Given the description of an element on the screen output the (x, y) to click on. 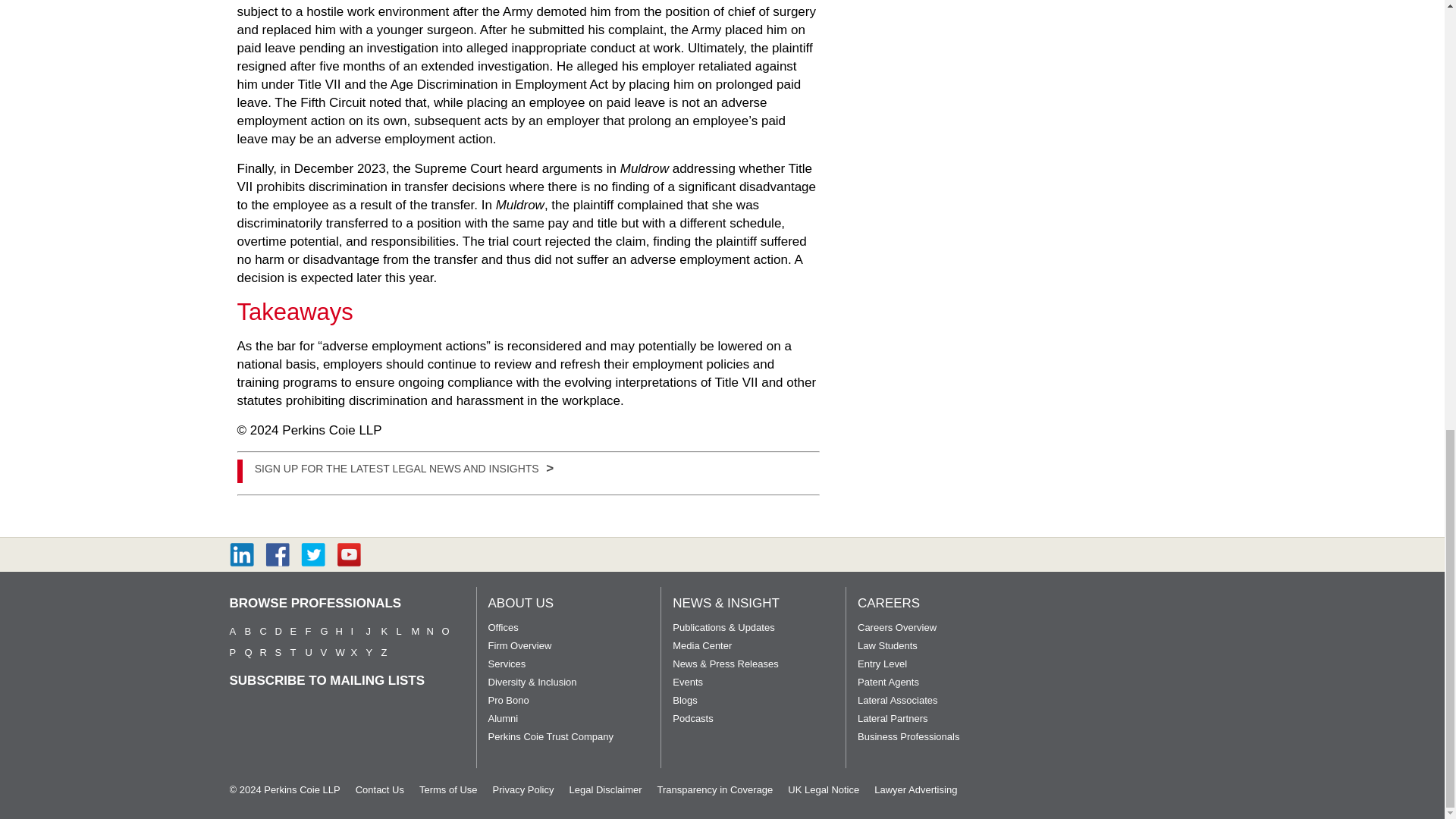
Blogs (684, 699)
Lateral Partner (892, 717)
Perkins Coie Trust Company (549, 736)
Patent Agent Overview (887, 681)
Media Center (702, 645)
Pro Bono (508, 699)
Apply Here (403, 467)
